Given the description of an element on the screen output the (x, y) to click on. 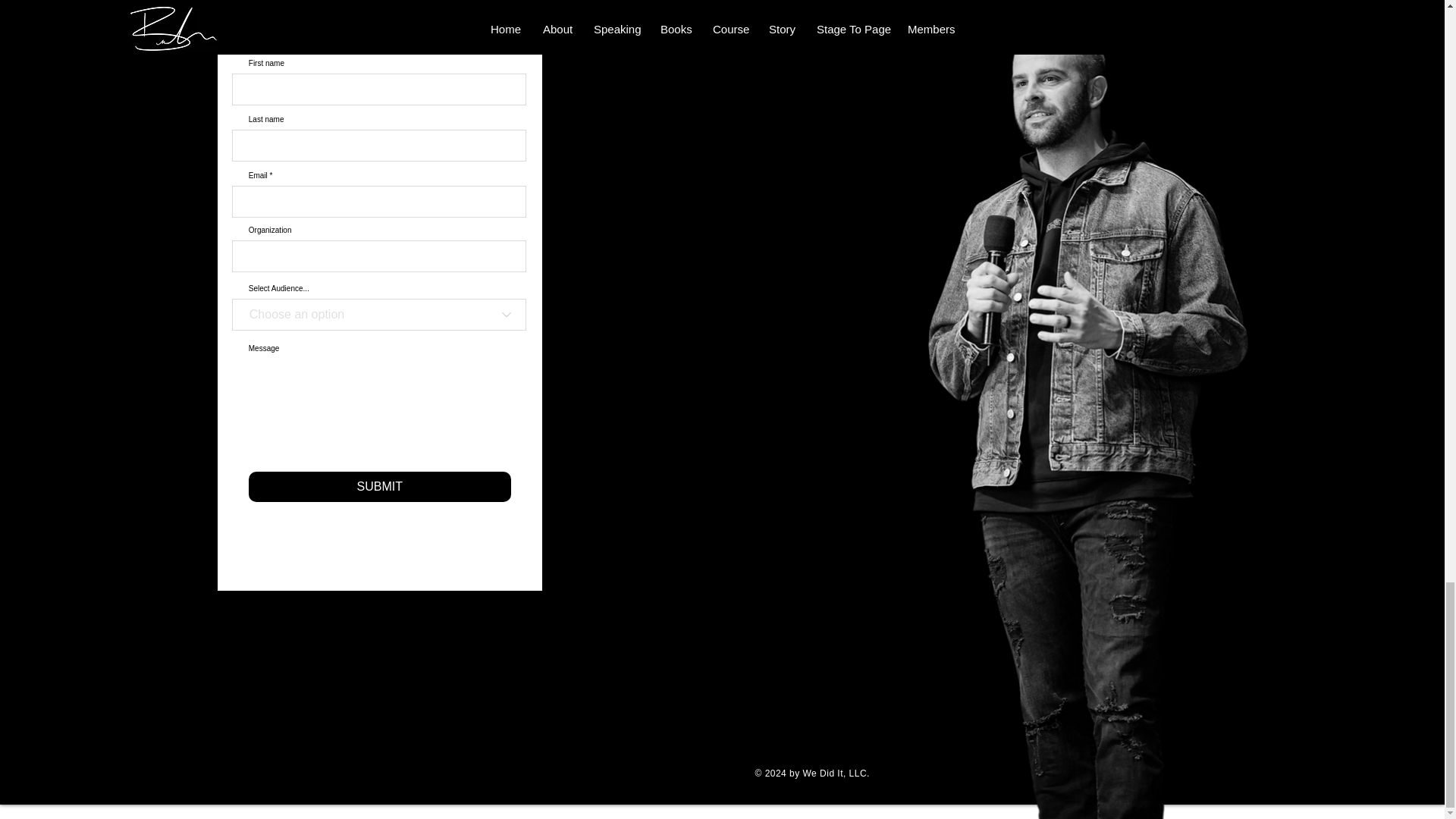
SUBMIT (379, 486)
Weezle.com (899, 773)
